Given the description of an element on the screen output the (x, y) to click on. 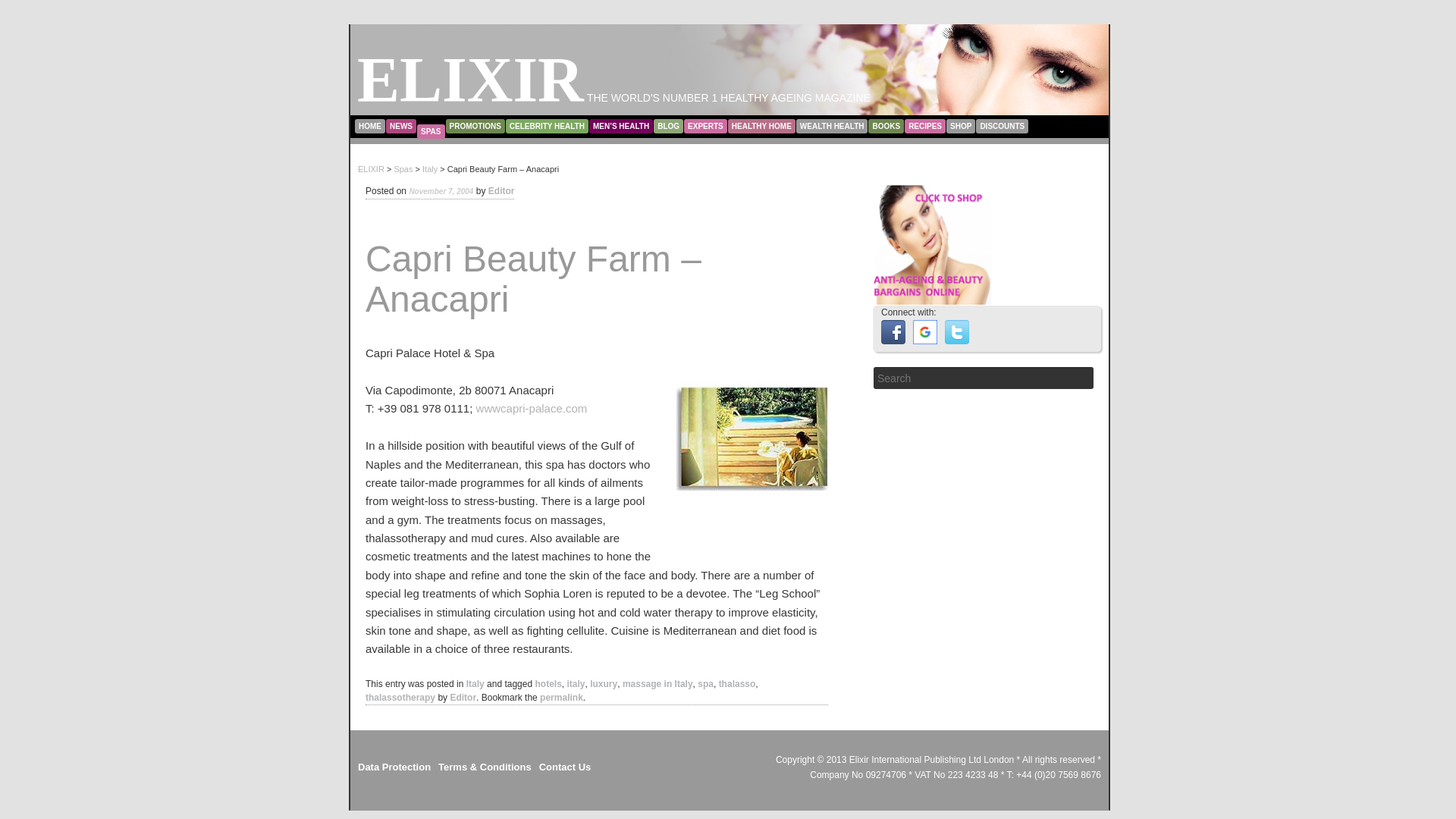
HEALTHY HOME (761, 125)
Skip to primary content (416, 121)
SKIP TO PRIMARY CONTENT (416, 121)
Go to the Italy Category archives. (430, 168)
PROMOTIONS (475, 125)
7:03 pm (441, 190)
RECIPES (924, 125)
Spas (402, 168)
HOME (370, 125)
SHOP (960, 125)
